Given the description of an element on the screen output the (x, y) to click on. 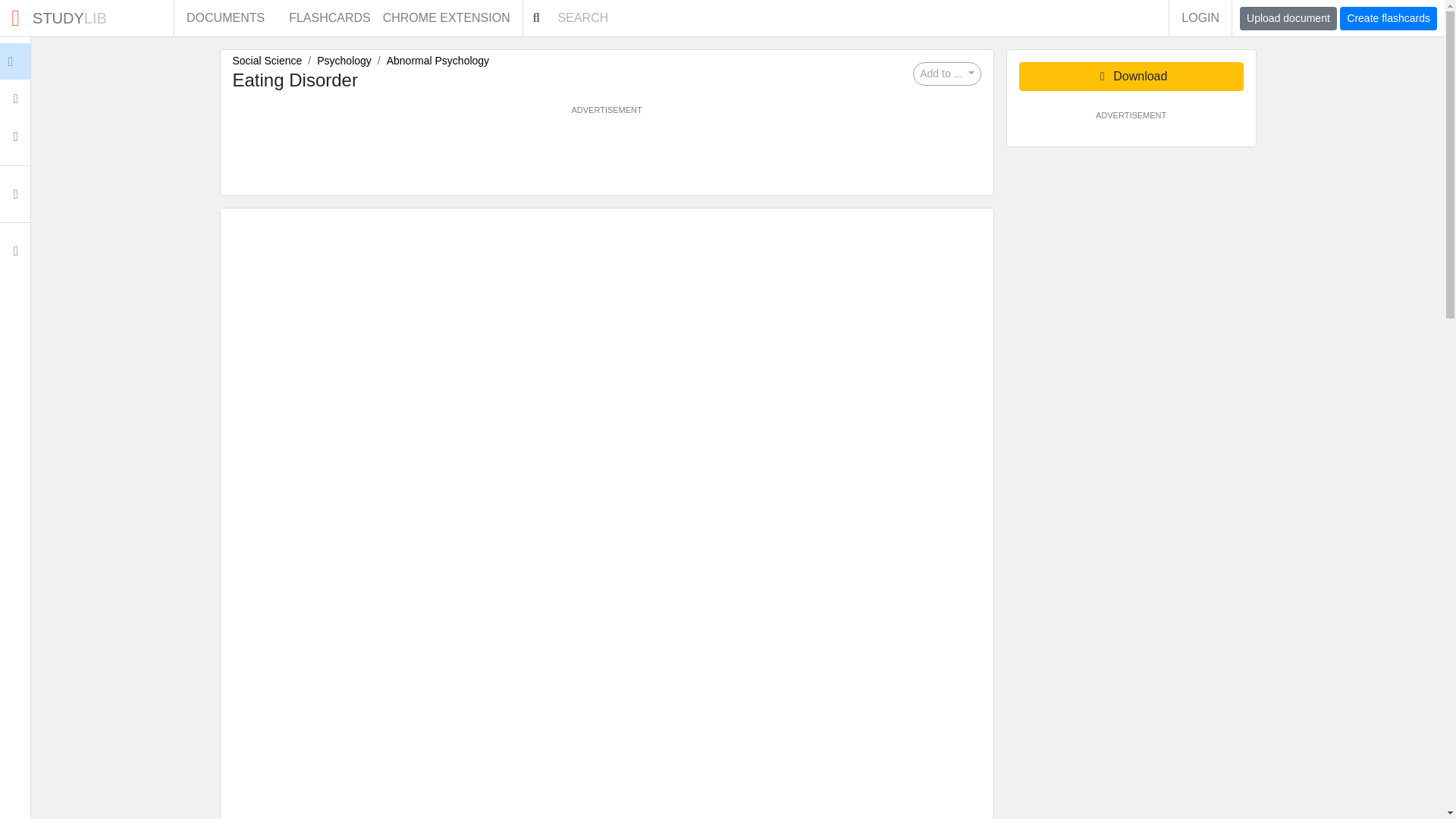
LOGIN (1200, 18)
Psychology (344, 60)
Upload document (1288, 18)
DOCUMENTS (225, 18)
FLASHCARDS (329, 18)
Create flashcards (1388, 18)
Social Science (266, 60)
Abnormal Psychology (438, 60)
Add to ... (86, 18)
